Given the description of an element on the screen output the (x, y) to click on. 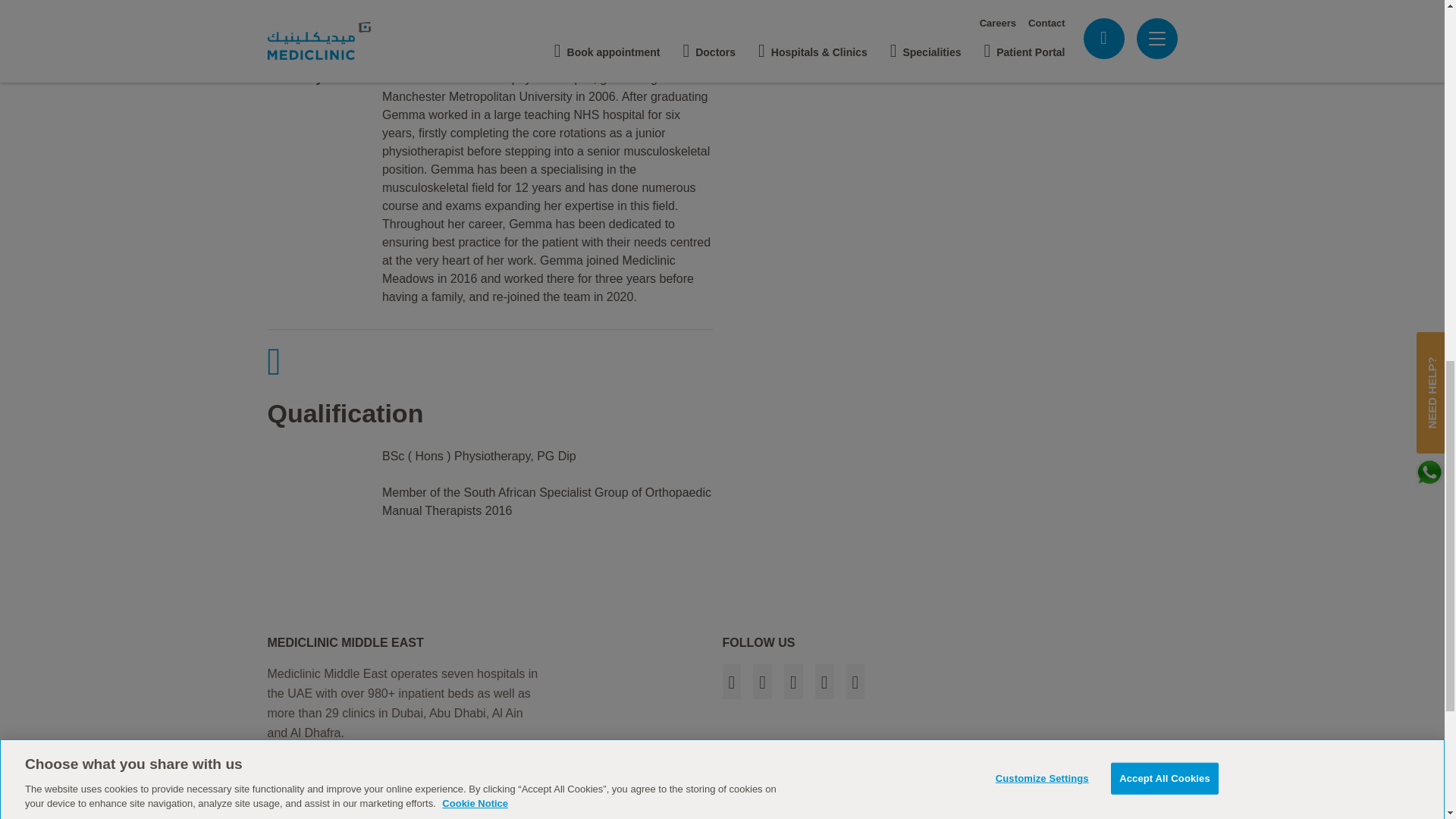
MSK Senior Physiotherapist (833, 43)
Scroll to Top (730, 791)
